Given the description of an element on the screen output the (x, y) to click on. 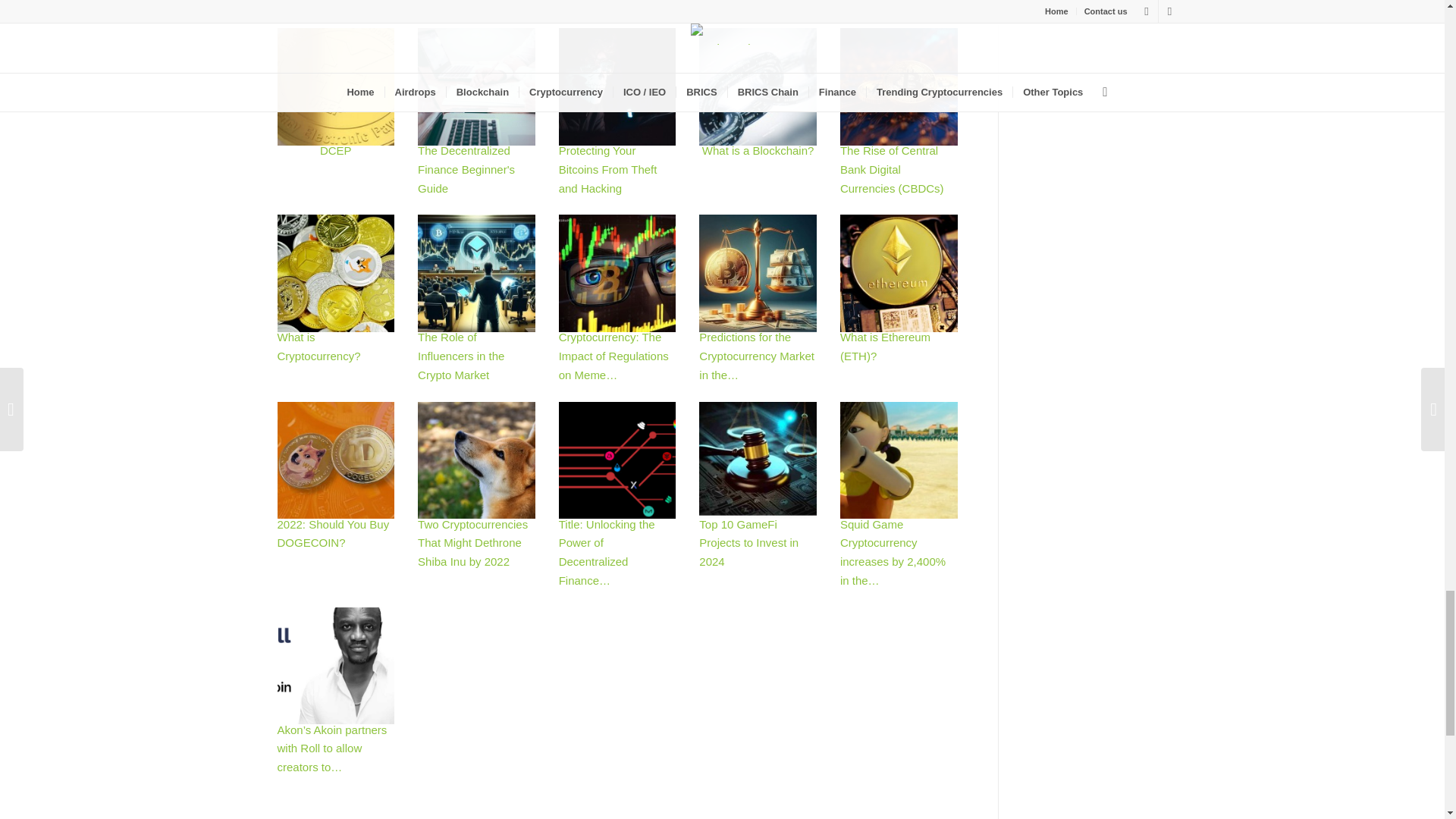
Protecting Your Bitcoins From Theft and Hacking (618, 86)
The Role of Influencers in the Crypto Market (476, 273)
DCEP (336, 86)
What is Cryptocurrency? (336, 273)
What is a Blockchain? (757, 86)
The Decentralized Finance Beginner's Guide (476, 86)
